Given the description of an element on the screen output the (x, y) to click on. 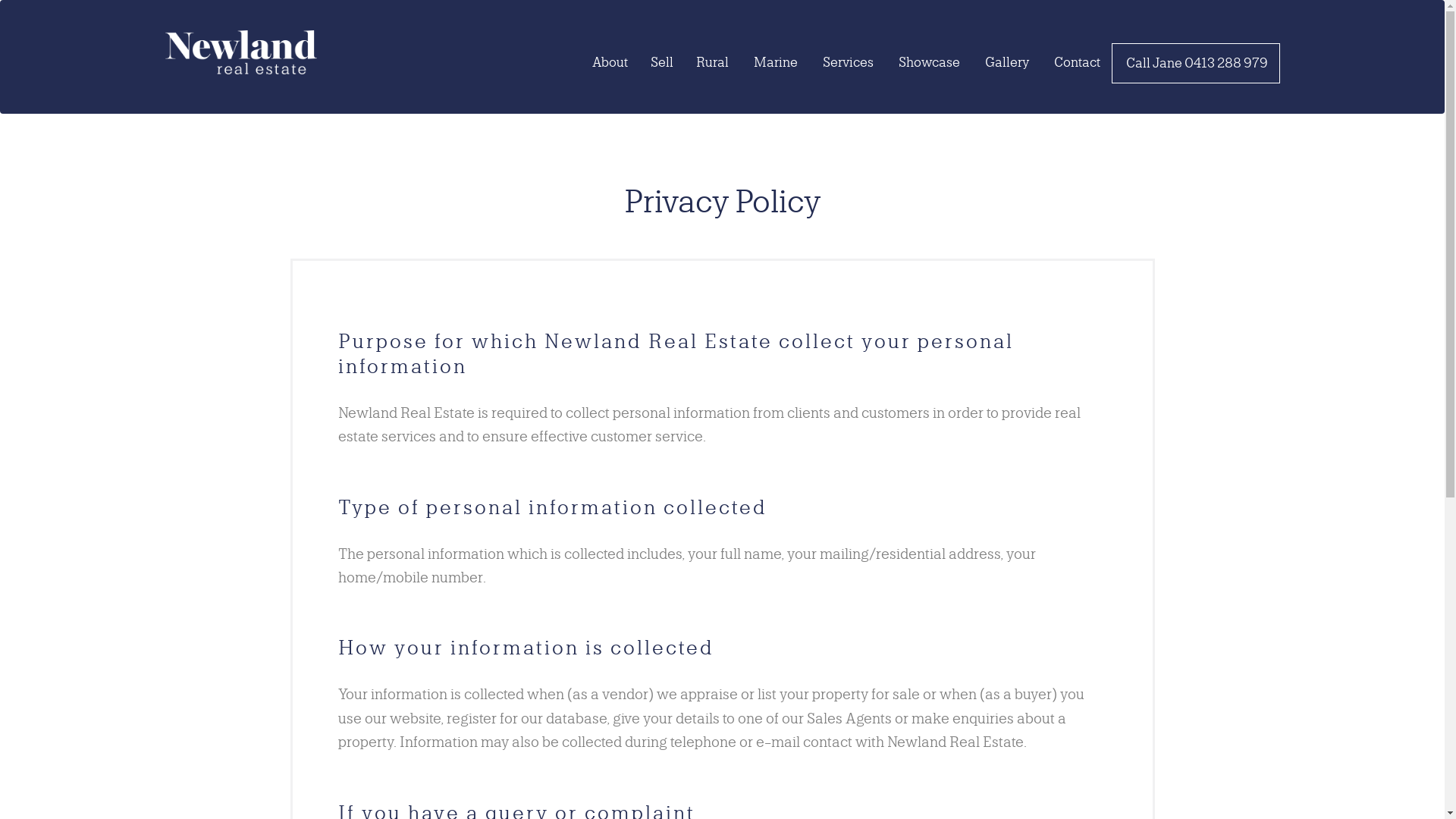
 Services Element type: text (846, 62)
Rural Element type: text (711, 62)
<i class="fa fa-home" aria-hidden="true"></i> Element type: hover (569, 54)
 Call Jane 0413 288 979 Element type: text (1194, 62)
 Showcase Element type: text (927, 62)
 Marine Element type: text (774, 62)
 Gallery Element type: text (1004, 62)
 Contact Element type: text (1075, 62)
Sell Element type: text (661, 62)
About Element type: text (609, 62)
